Given the description of an element on the screen output the (x, y) to click on. 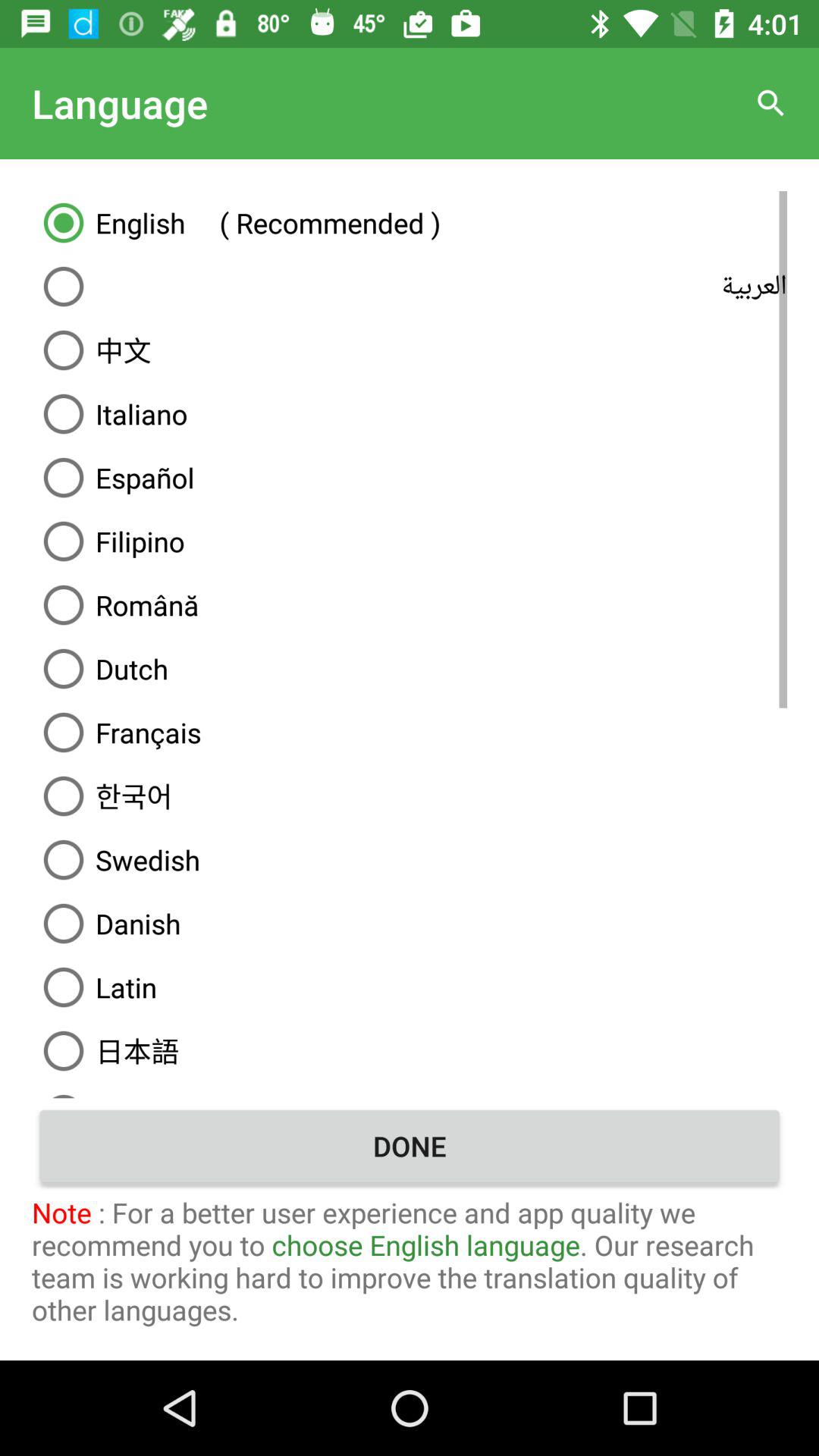
tap item above danish item (409, 859)
